Given the description of an element on the screen output the (x, y) to click on. 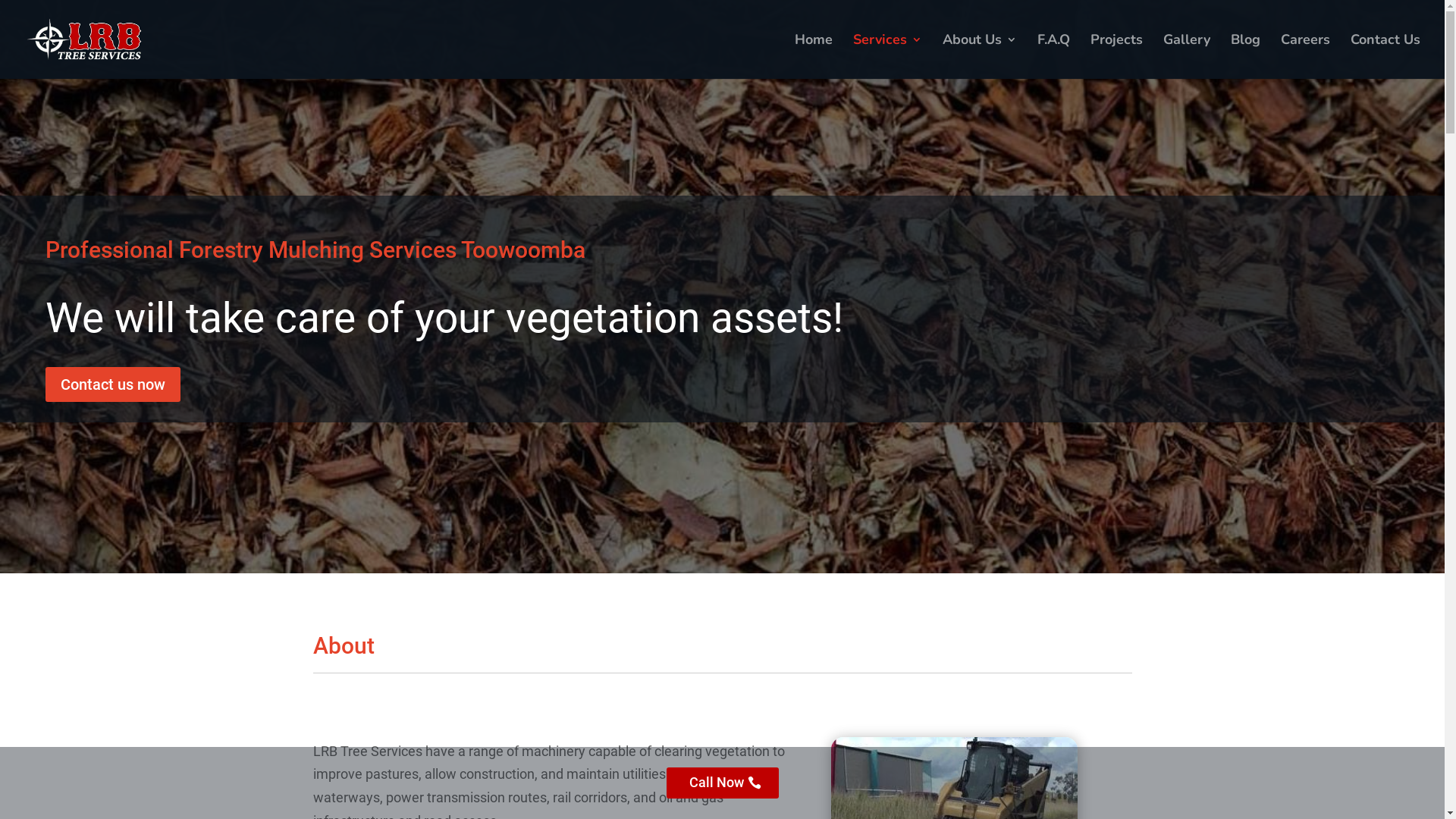
About Us Element type: text (979, 56)
F.A.Q Element type: text (1053, 56)
Call Now Element type: text (721, 782)
Projects Element type: text (1116, 56)
Contact Us Element type: text (1385, 56)
Gallery Element type: text (1186, 56)
Careers Element type: text (1305, 56)
Contact us now Element type: text (112, 384)
Home Element type: text (813, 56)
Blog Element type: text (1245, 56)
Services Element type: text (887, 56)
